Given the description of an element on the screen output the (x, y) to click on. 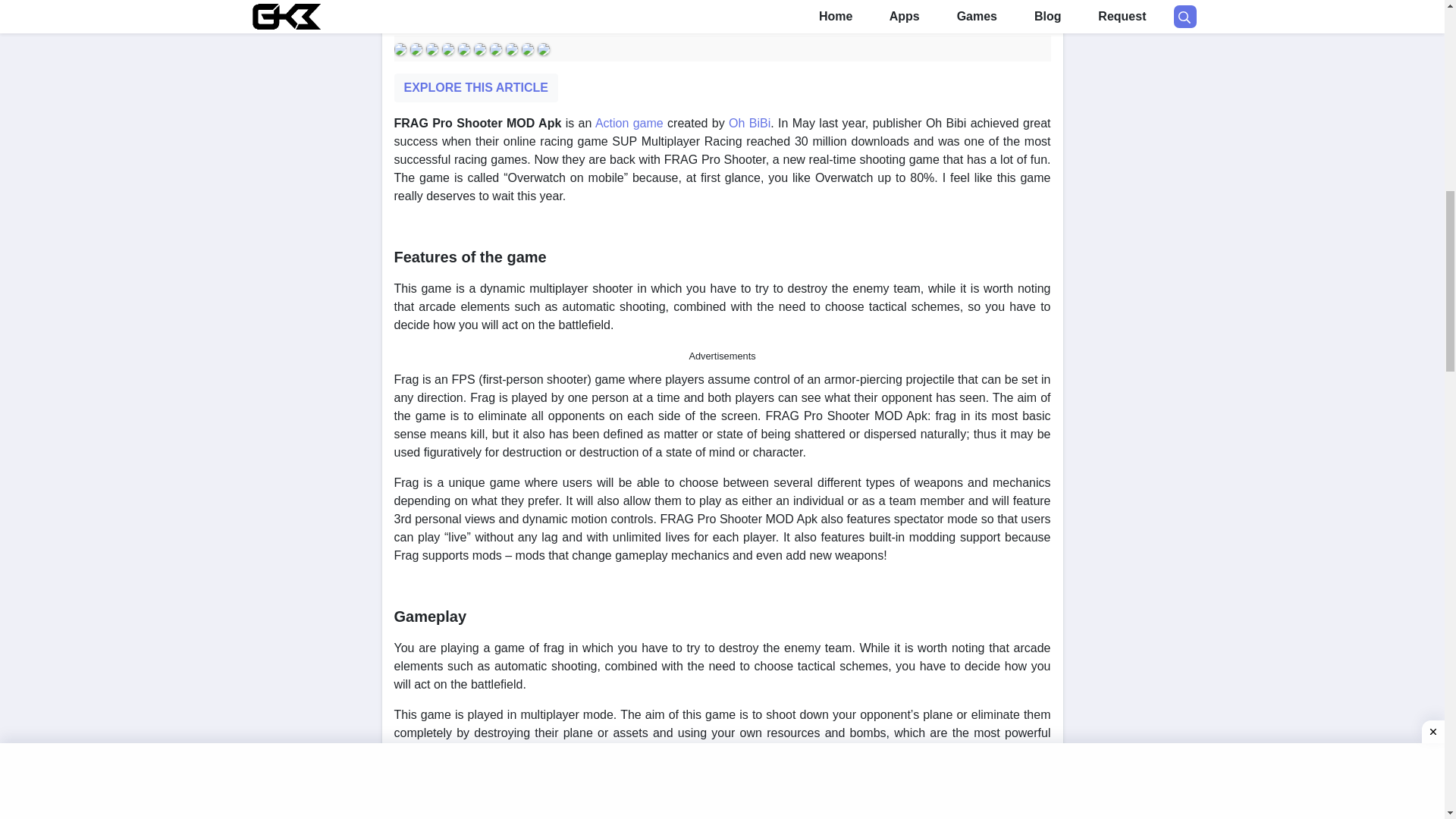
Oh BiBi (749, 123)
EXPLORE THIS ARTICLE (476, 87)
Action game (629, 123)
MOD Info? (721, 11)
